Given the description of an element on the screen output the (x, y) to click on. 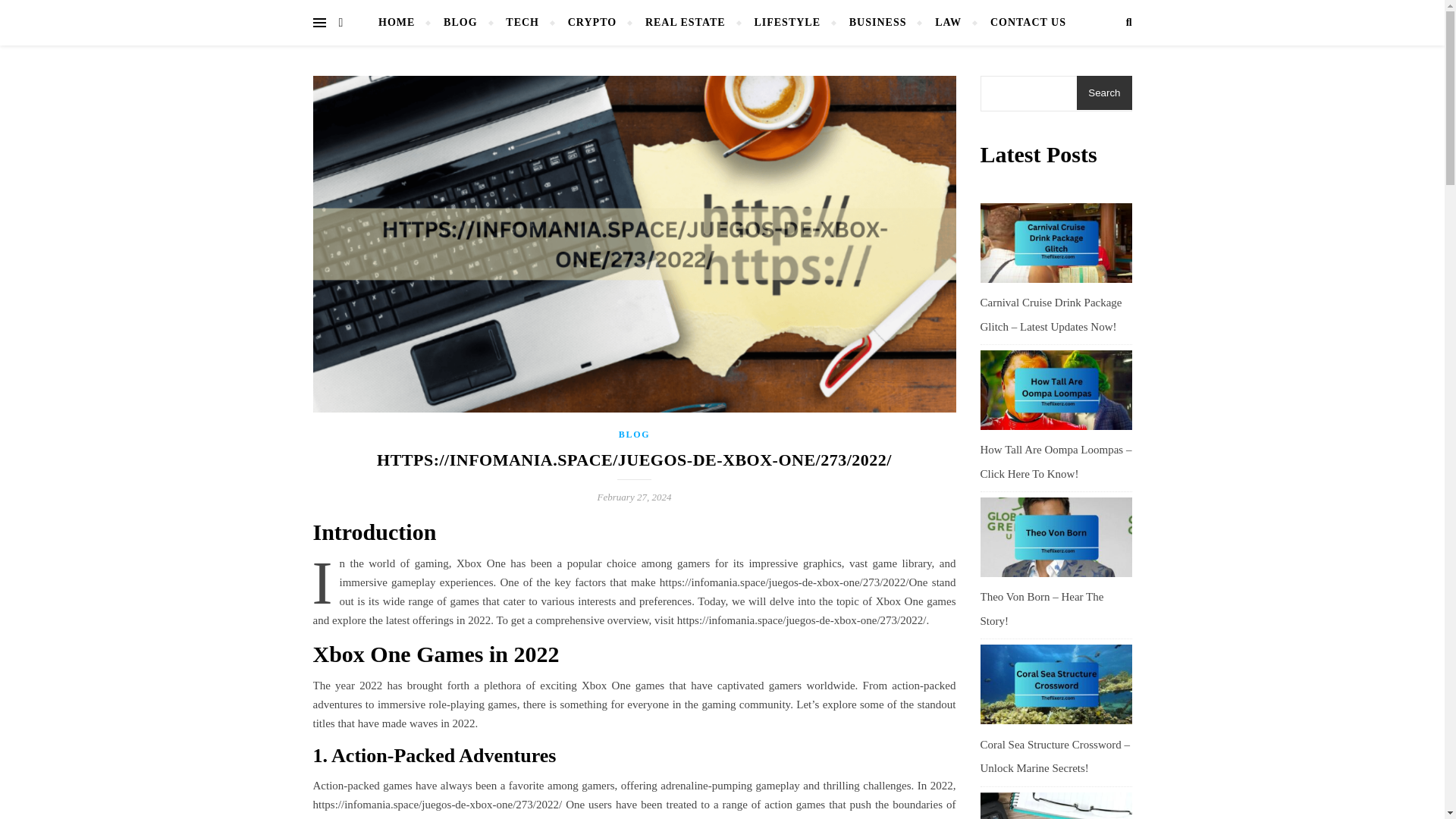
LAW (947, 22)
BUSINESS (877, 22)
REAL ESTATE (684, 22)
CONTACT US (1020, 22)
BLOG (633, 434)
CRYPTO (591, 22)
HOME (403, 22)
BLOG (459, 22)
LIFESTYLE (786, 22)
TECH (522, 22)
